Given the description of an element on the screen output the (x, y) to click on. 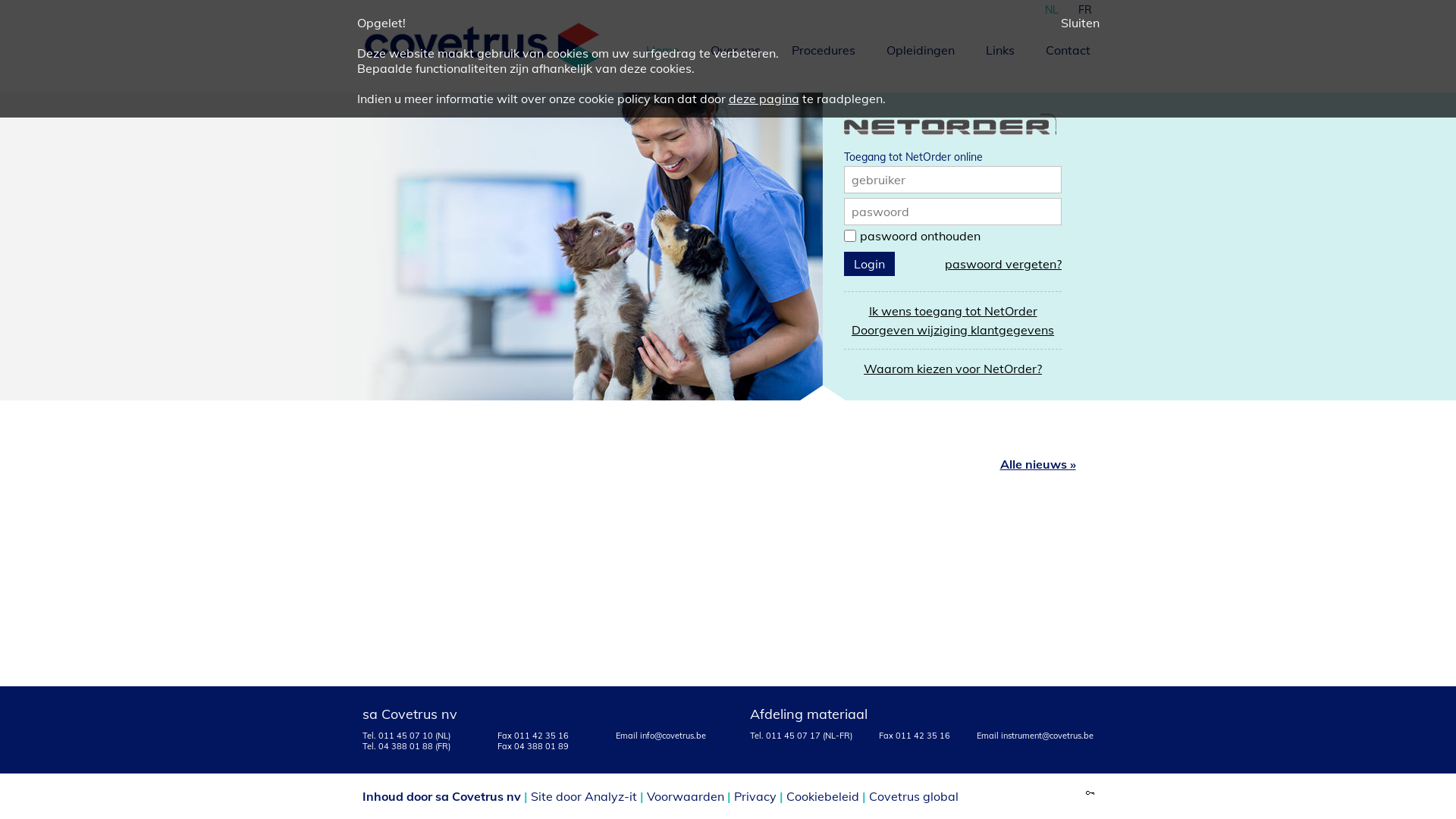
Covetrus global Element type: text (913, 795)
Site door Analyz-it Element type: text (583, 795)
FR Element type: text (1084, 7)
Home Element type: text (660, 47)
Over ons Element type: text (733, 47)
Opleidingen Element type: text (918, 47)
NL Element type: text (1050, 7)
paswoord vergeten? Element type: text (1002, 263)
gebruiker Element type: text (878, 179)
info@covetrus.be Element type: text (673, 735)
Links Element type: text (997, 47)
deze pagina Element type: text (763, 98)
Waarom kiezen voor NetOrder? Element type: text (952, 368)
paswoord Element type: text (880, 211)
Login Element type: text (869, 263)
Privacy Element type: text (755, 795)
Doorgeven wijziging klantgegevens Element type: text (952, 329)
instrument@covetrus.be Element type: text (1047, 735)
Procedures Element type: text (821, 47)
Cookiebeleid Element type: text (821, 795)
Sluiten Element type: text (1079, 22)
Contact Element type: text (1066, 47)
Voorwaarden Element type: text (684, 795)
Covetrus Element type: hover (482, 45)
Ik wens toegang tot NetOrder Element type: text (953, 310)
Inhoud door sa Covetrus nv Element type: text (441, 795)
